Given the description of an element on the screen output the (x, y) to click on. 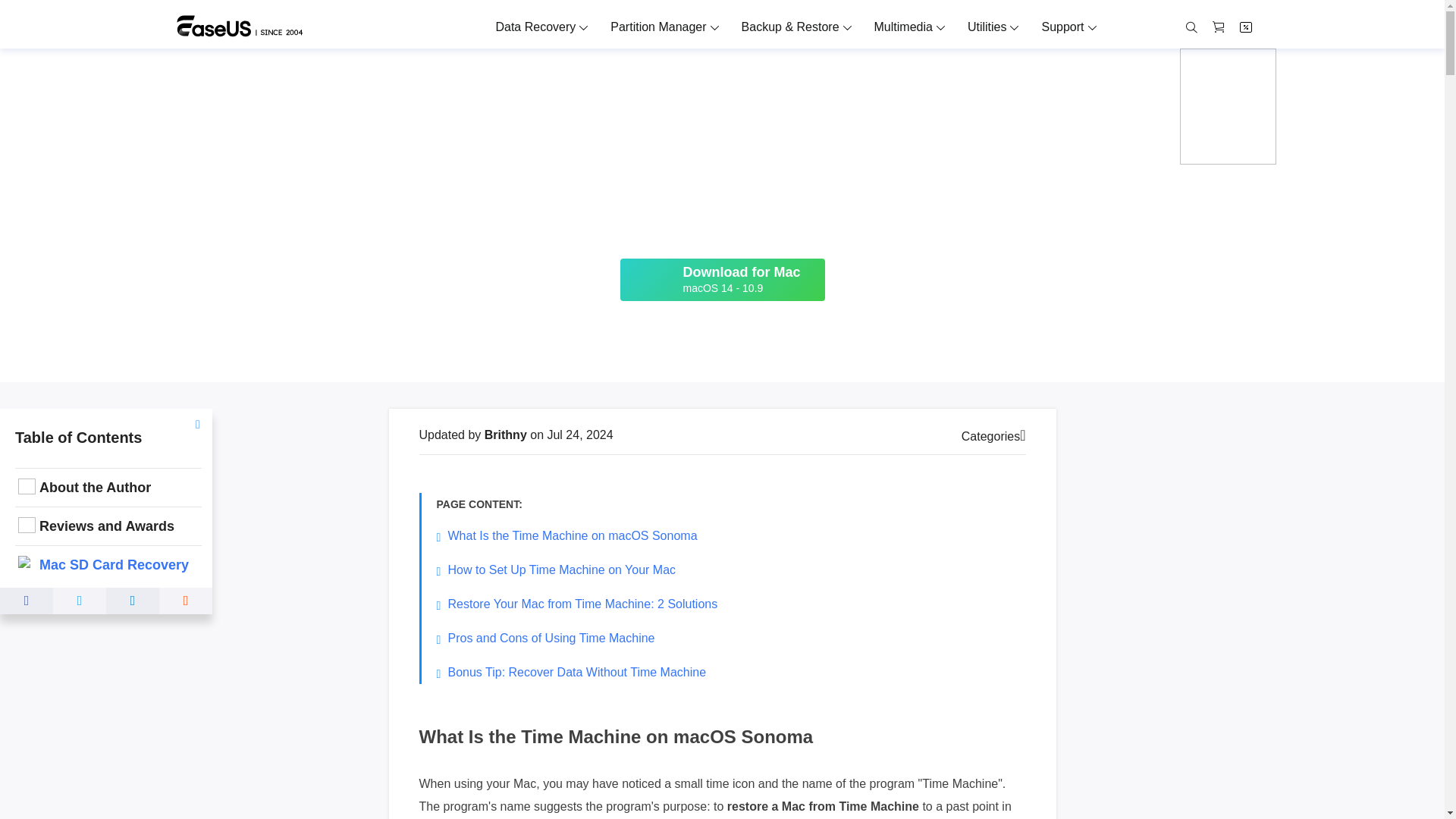
Data Recovery (534, 26)
Partition Manager (657, 26)
